Given the description of an element on the screen output the (x, y) to click on. 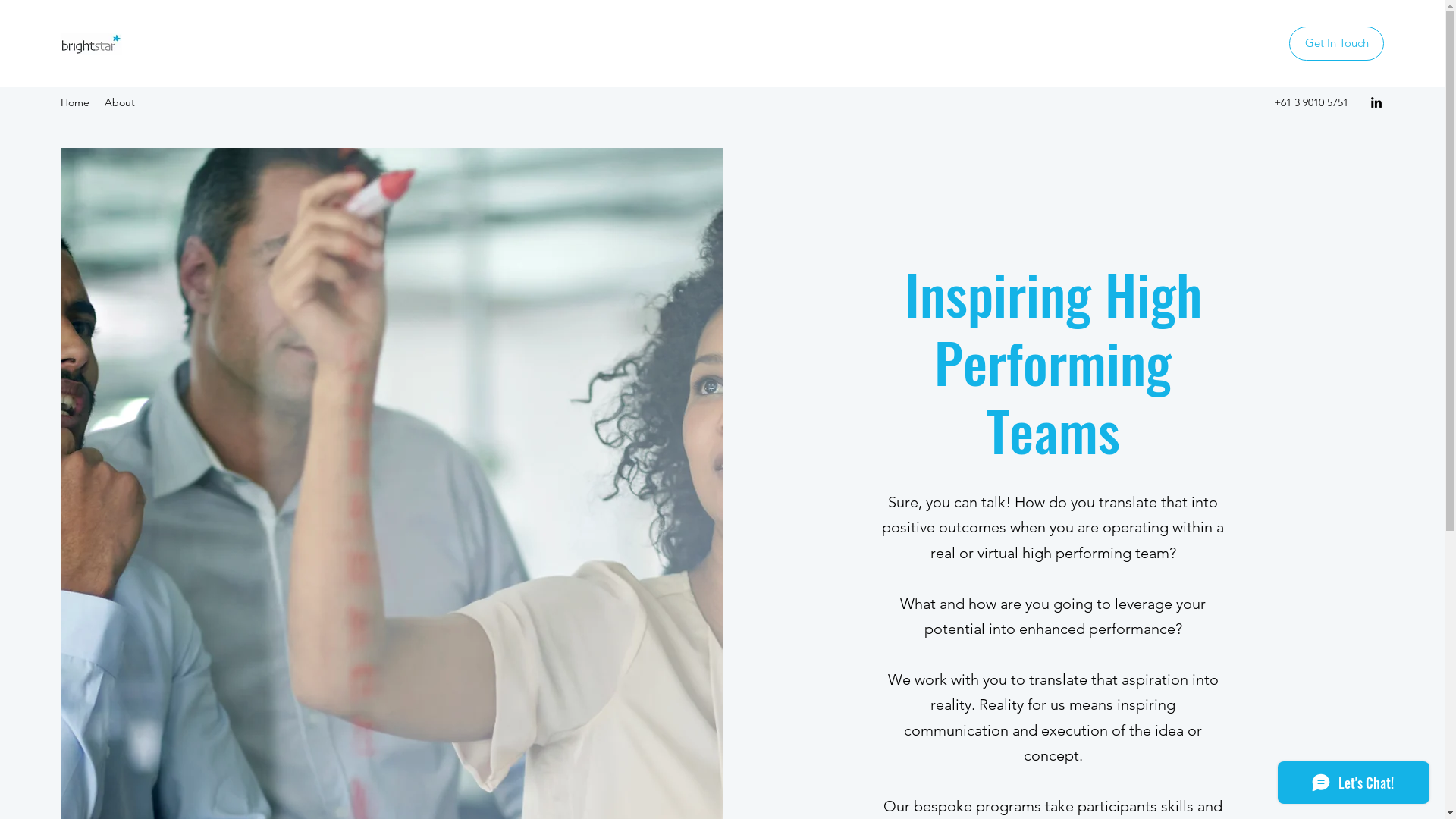
Get In Touch Element type: text (1336, 43)
Home Element type: text (75, 102)
About Element type: text (119, 102)
